Given the description of an element on the screen output the (x, y) to click on. 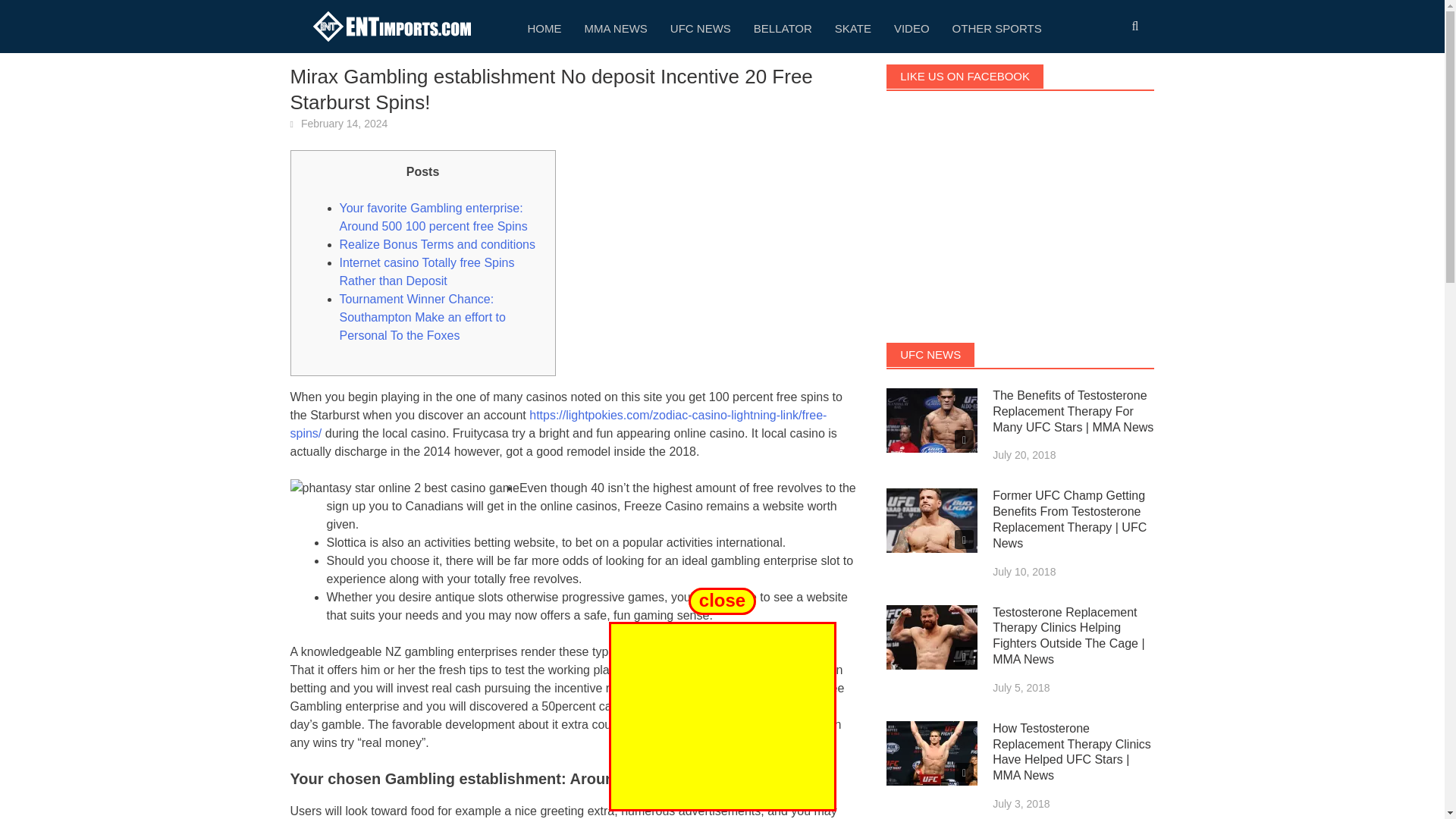
VIDEO (911, 26)
Realize Bonus Terms and conditions (437, 244)
MMA NEWS (616, 26)
UFC NEWS (700, 26)
SKATE (853, 26)
Internet casino Totally free Spins Rather than Deposit (427, 271)
BELLATOR (783, 26)
OTHER SPORTS (996, 26)
February 14, 2024 (344, 123)
